Given the description of an element on the screen output the (x, y) to click on. 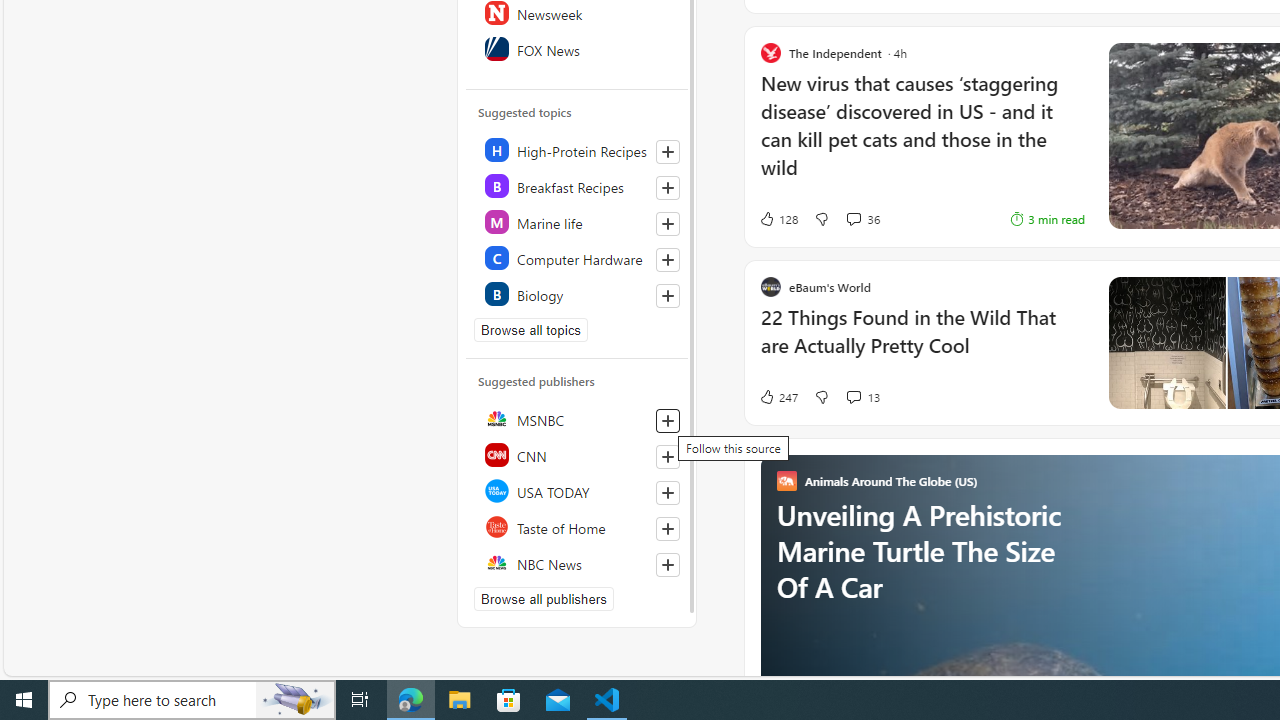
Follow this source (667, 564)
Follow this topic (667, 295)
View comments 36 Comment (862, 219)
MSNBC (578, 418)
Browse all publishers (543, 598)
CNN (578, 454)
View comments 13 Comment (852, 396)
Follow this source (667, 564)
